Given the description of an element on the screen output the (x, y) to click on. 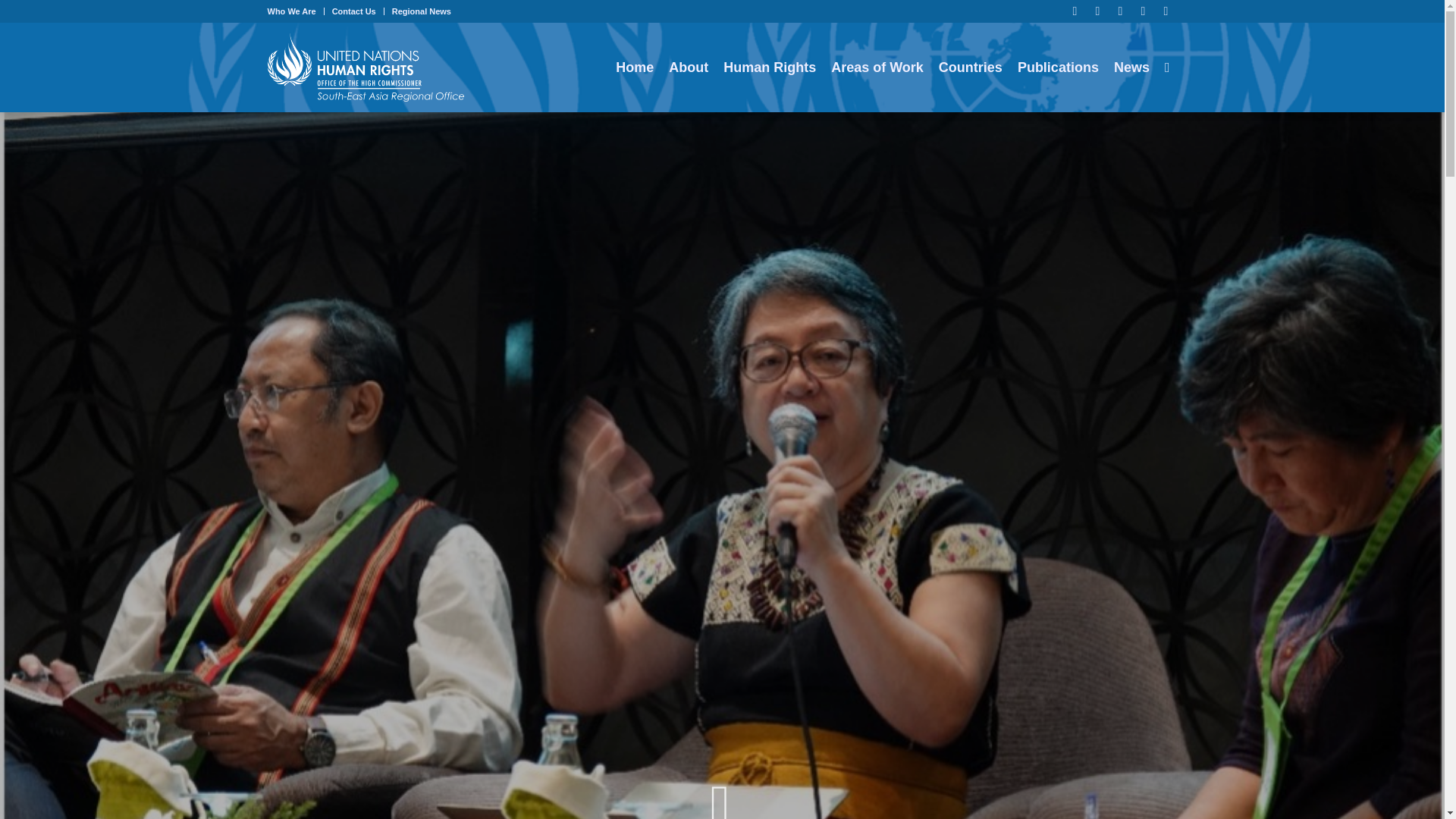
Contact Us (353, 11)
Youtube (1165, 11)
Human Rights (770, 67)
Twitter (1097, 11)
Instagram (1119, 11)
Areas of Work (877, 67)
Facebook (1074, 11)
Who We Are (290, 11)
LinkedIn (1142, 11)
Regional News (421, 11)
